Given the description of an element on the screen output the (x, y) to click on. 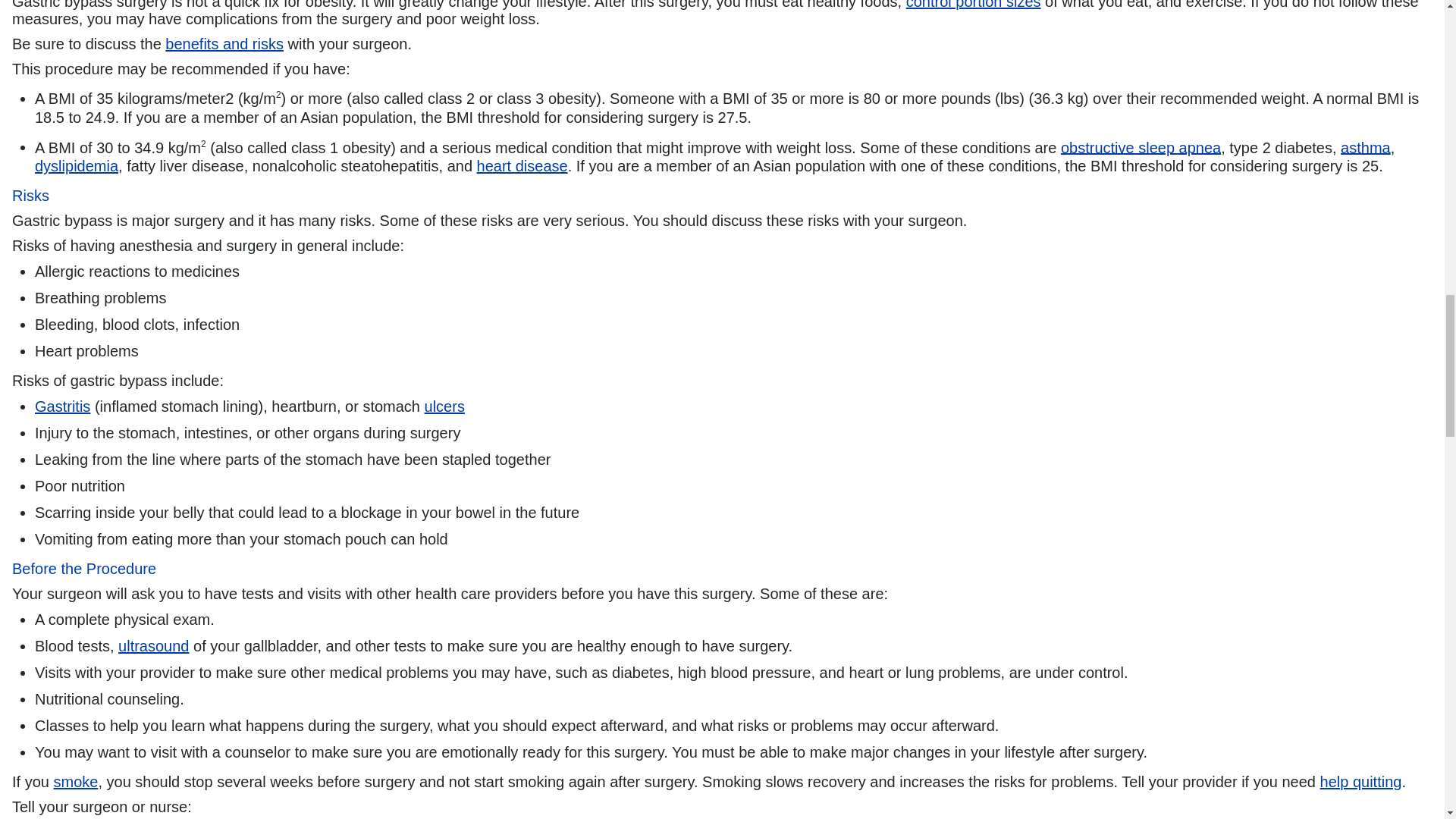
Gastritis (62, 406)
obstructive sleep apnea (1141, 146)
help quitting (1361, 781)
heart disease (522, 166)
dyslipidemia (75, 166)
ultrasound (153, 646)
benefits and risks (224, 44)
asthma (1365, 146)
control portion sizes (973, 4)
smoke (74, 781)
